Given the description of an element on the screen output the (x, y) to click on. 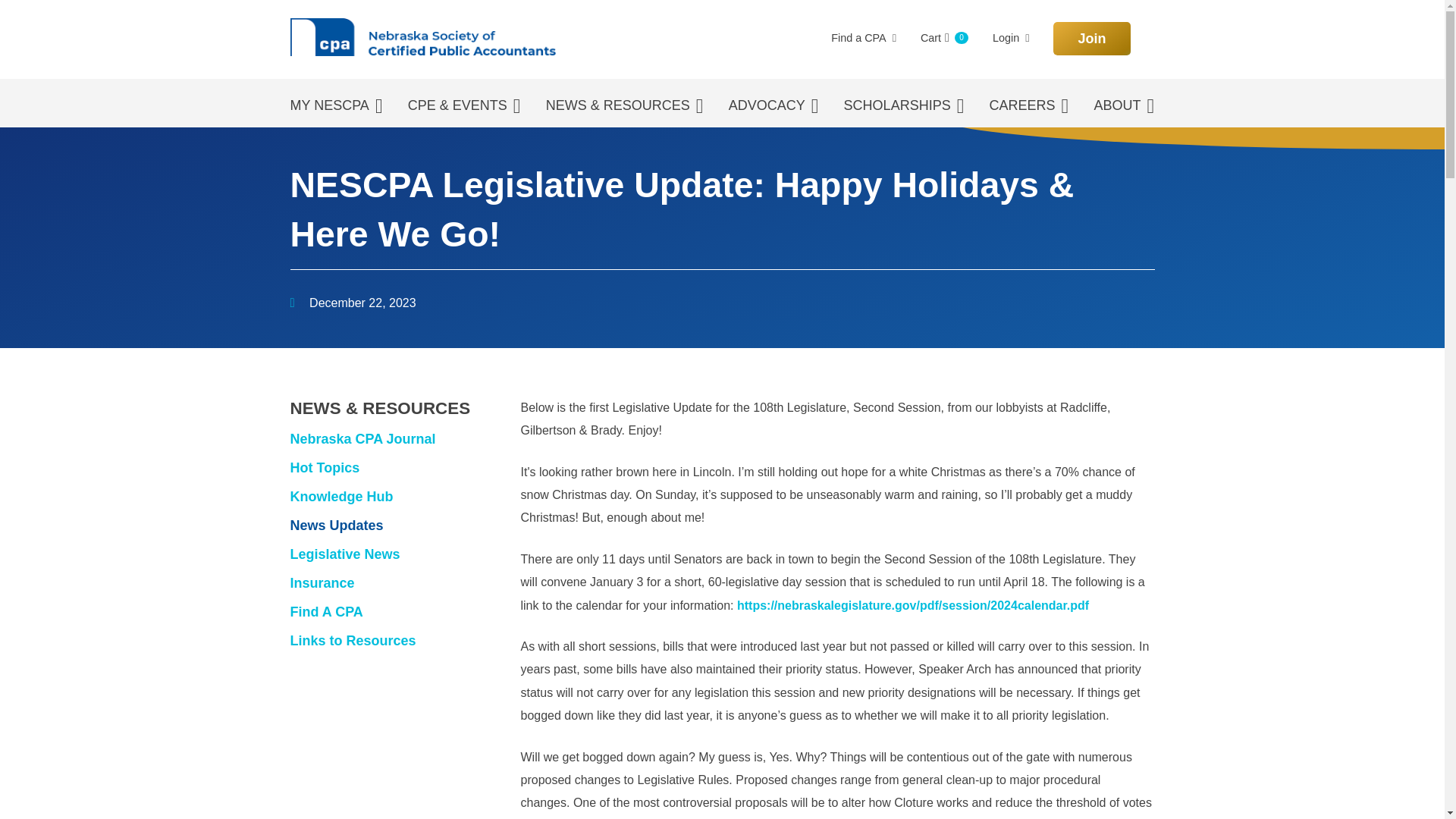
Find a CPA (863, 37)
Login (944, 37)
Join (1010, 37)
MY NESCPA (1090, 38)
